Given the description of an element on the screen output the (x, y) to click on. 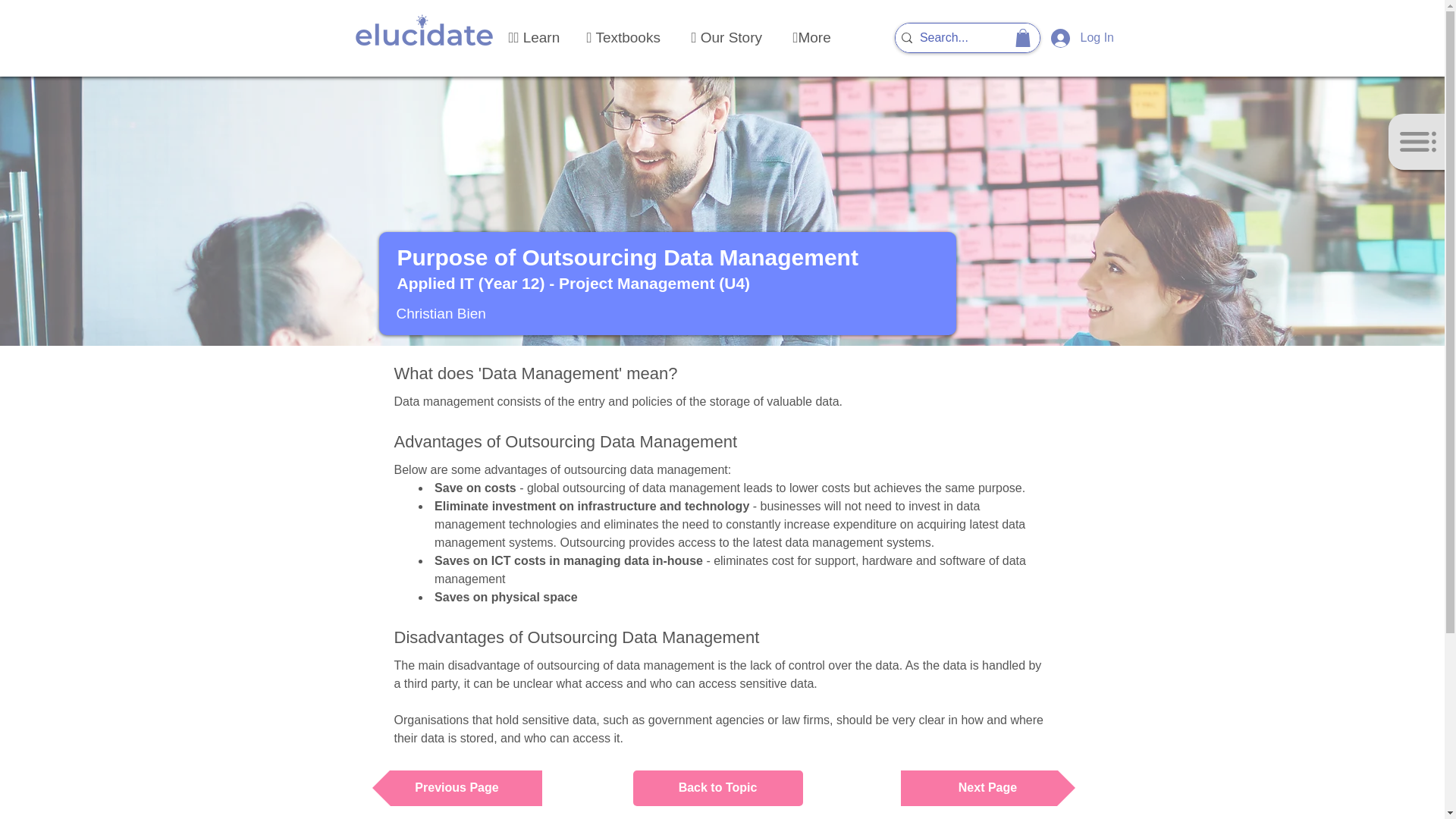
Previous Page (456, 787)
Log In (1067, 37)
Back to Topic (716, 787)
Next Page (988, 787)
